Given the description of an element on the screen output the (x, y) to click on. 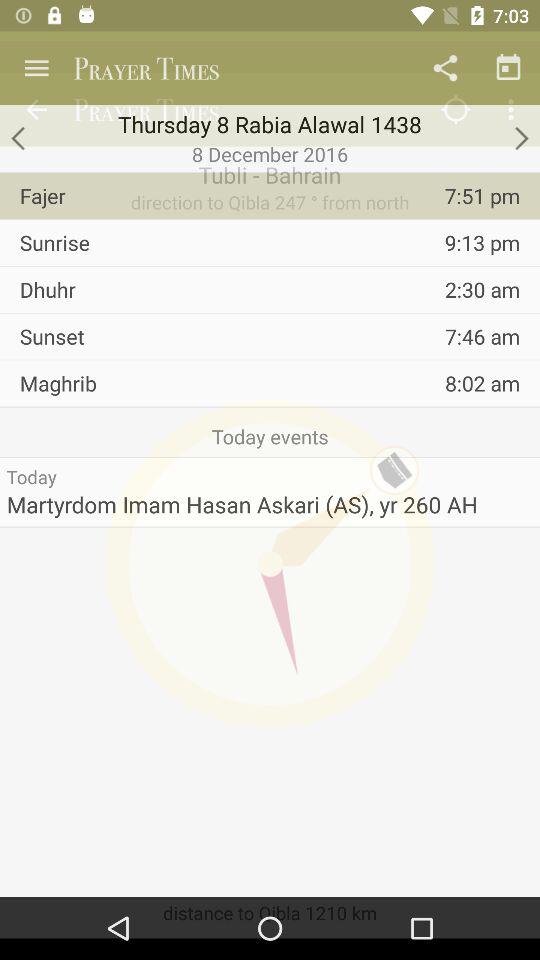
go to next (520, 138)
